Given the description of an element on the screen output the (x, y) to click on. 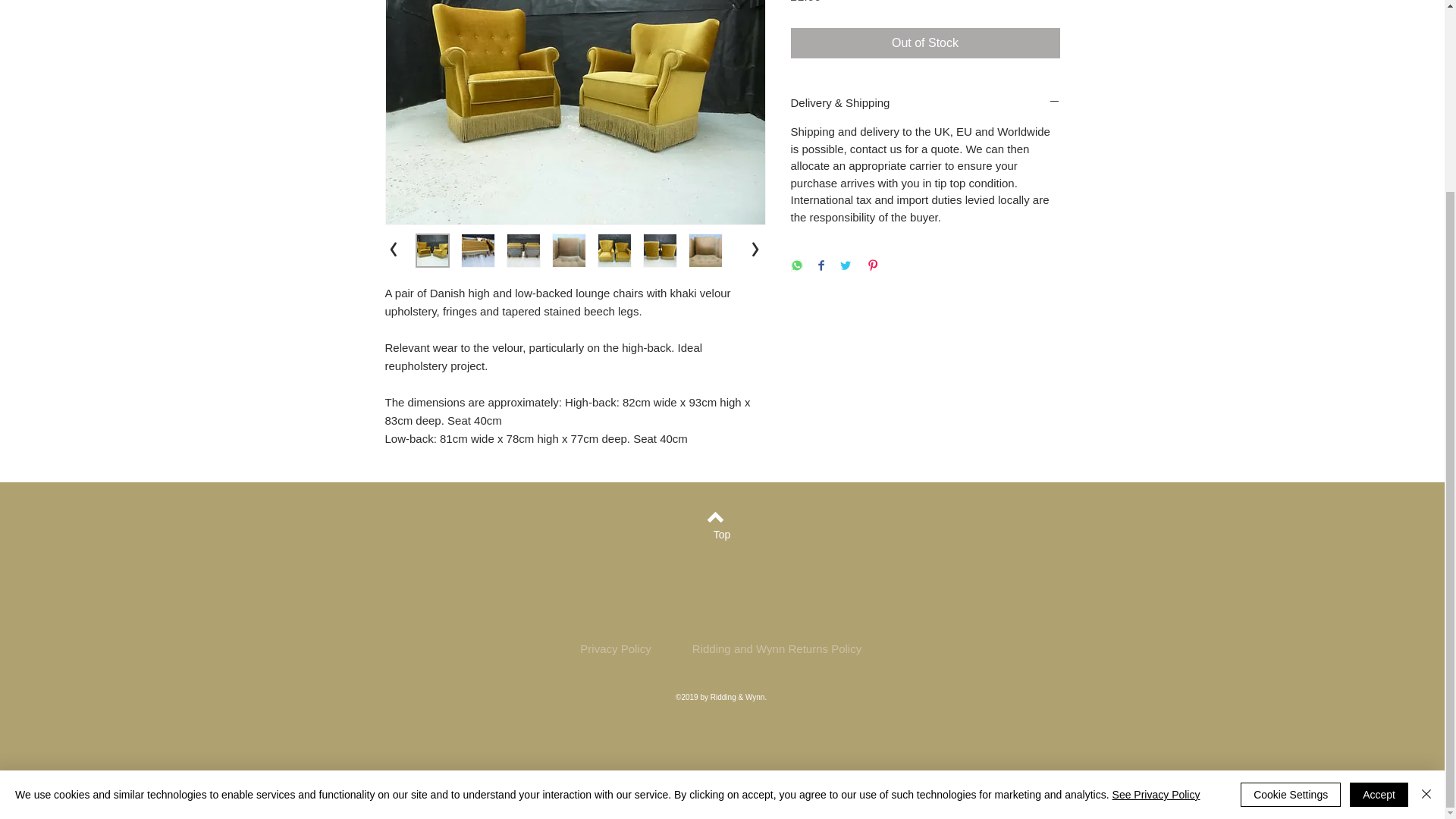
Privacy Policy (614, 648)
Ridding and Wynn Returns Policy (777, 648)
Out of Stock (924, 42)
Top (721, 534)
